Given the description of an element on the screen output the (x, y) to click on. 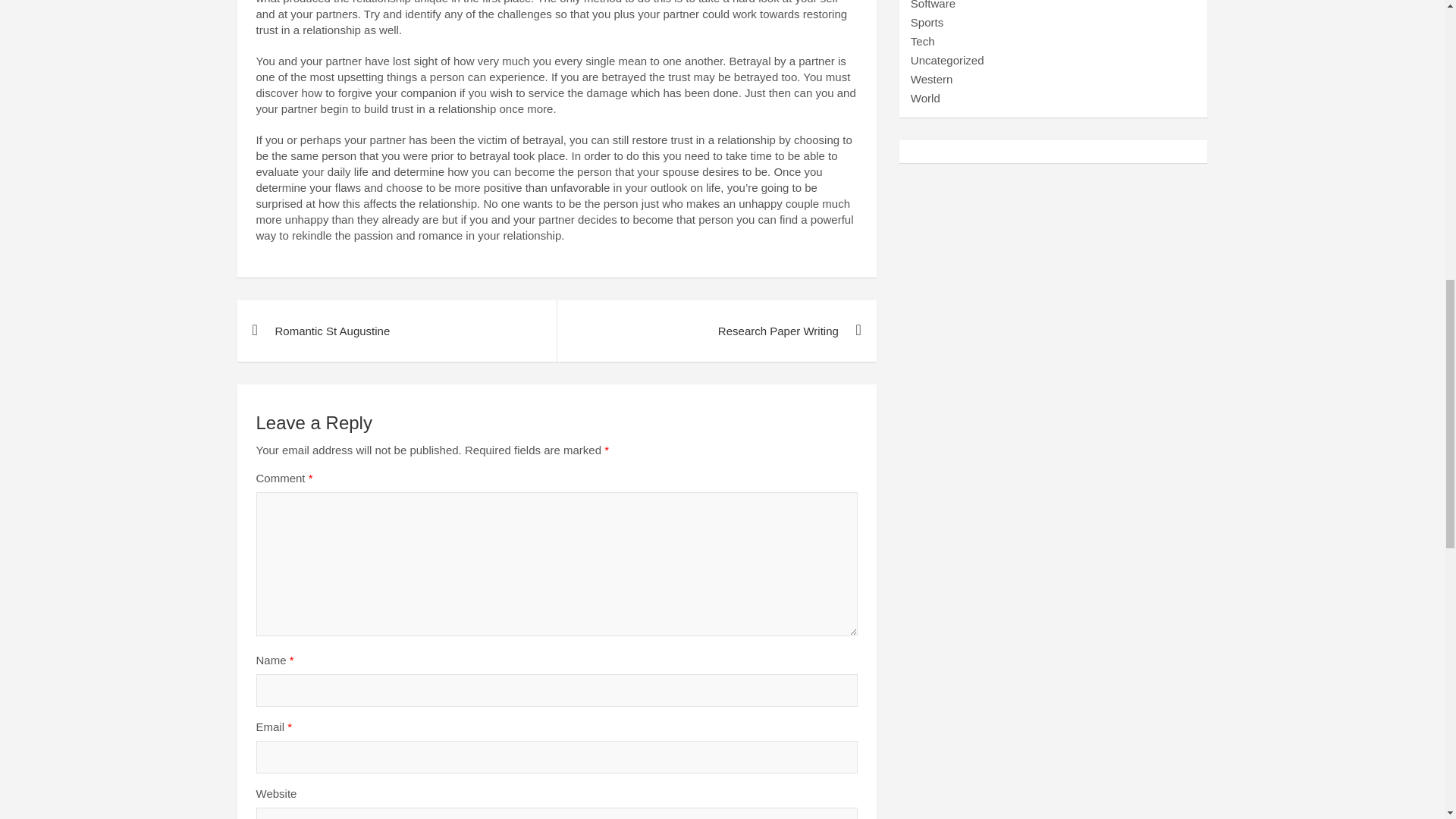
Romantic St Augustine (395, 330)
Software (933, 4)
Research Paper Writing (716, 330)
